Given the description of an element on the screen output the (x, y) to click on. 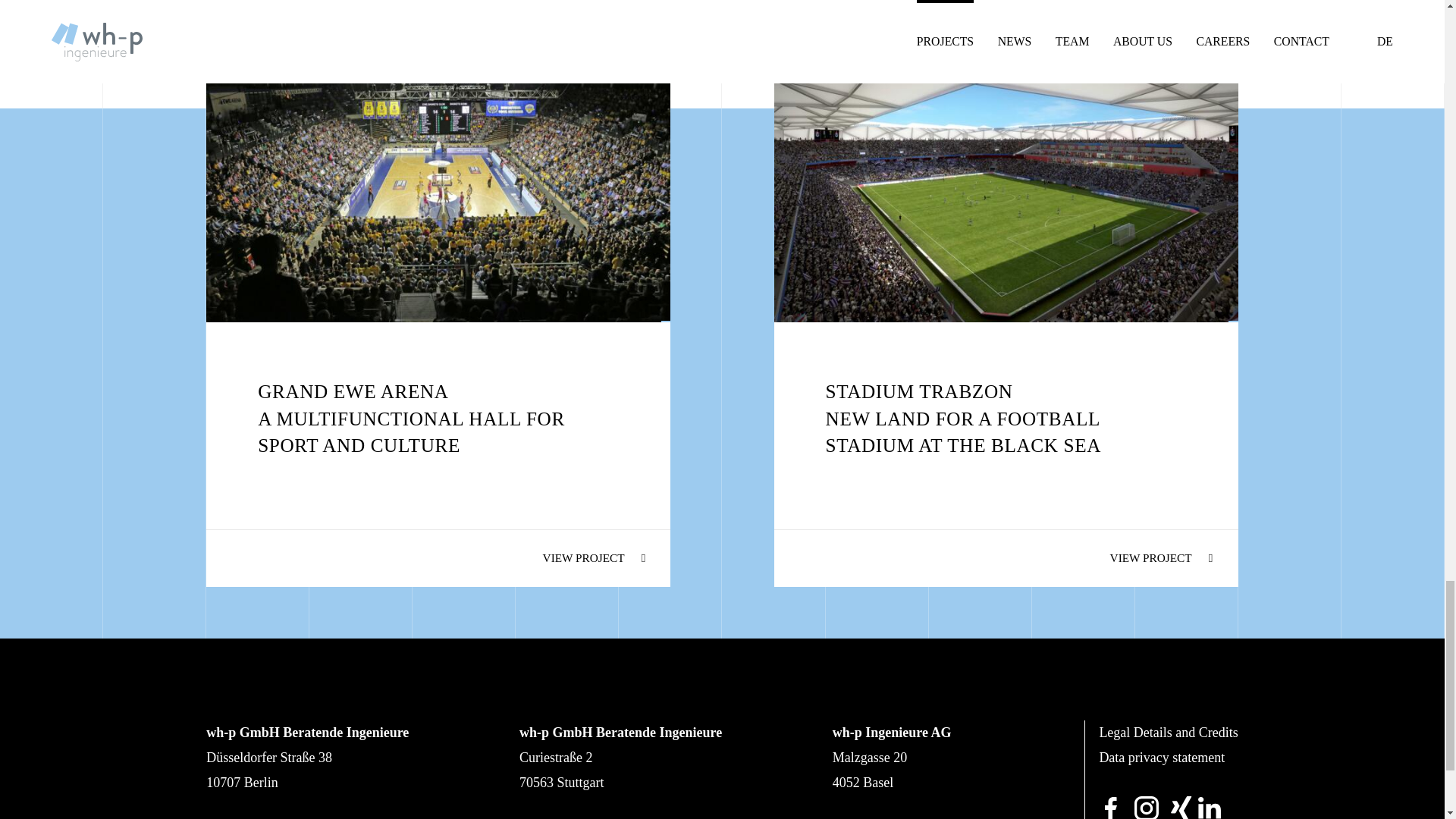
Credits (1168, 732)
UP (1211, 2)
Privacy Policy (1161, 757)
Legal Details and Credits (1168, 732)
Data privacy statement (1161, 757)
